Given the description of an element on the screen output the (x, y) to click on. 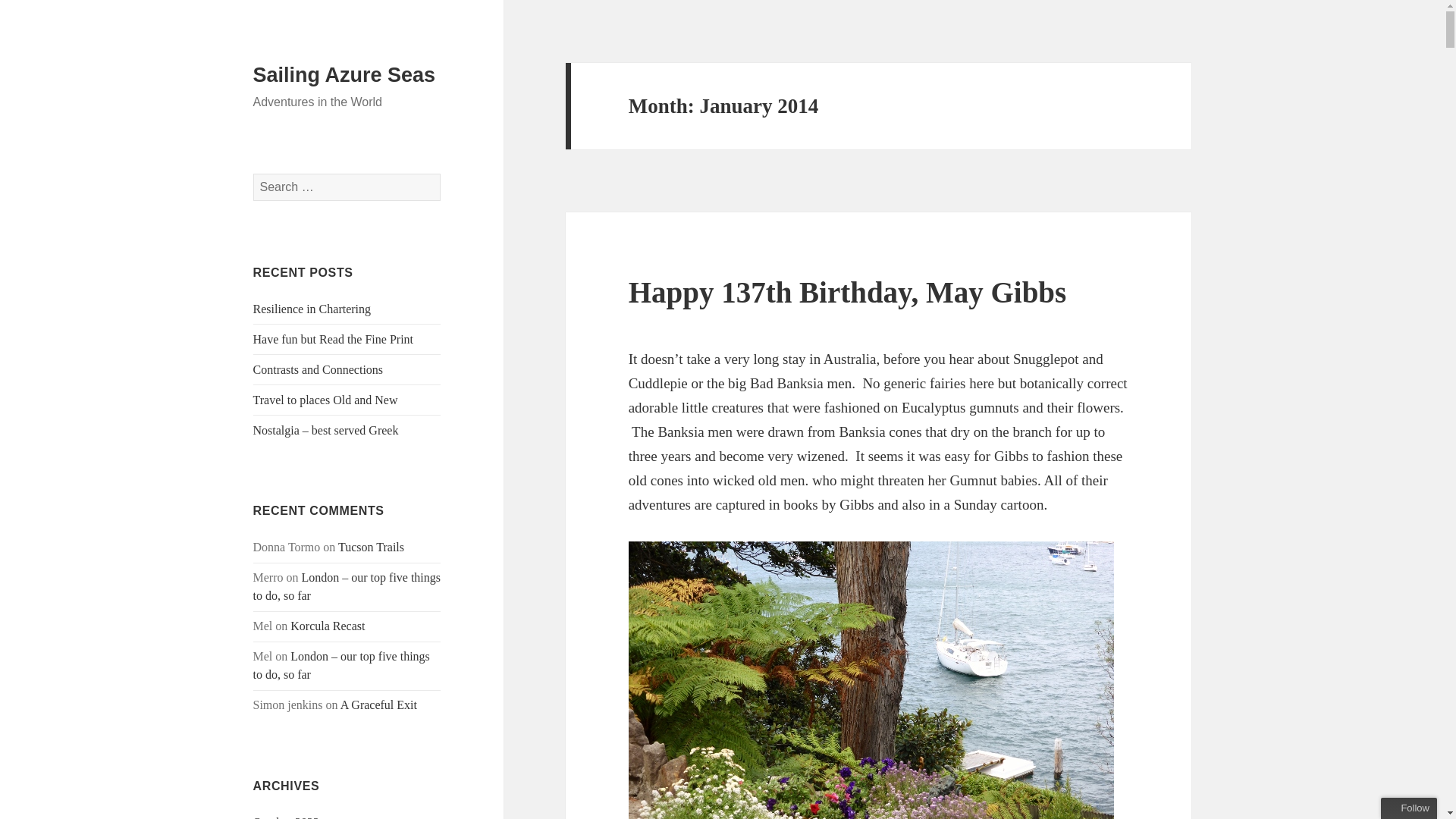
Sailing Azure Seas (344, 74)
Resilience in Chartering (312, 308)
A Graceful Exit (378, 704)
Tucson Trails (370, 546)
Korcula Recast (327, 625)
Contrasts and Connections (318, 369)
Travel to places Old and New (325, 399)
